Given the description of an element on the screen output the (x, y) to click on. 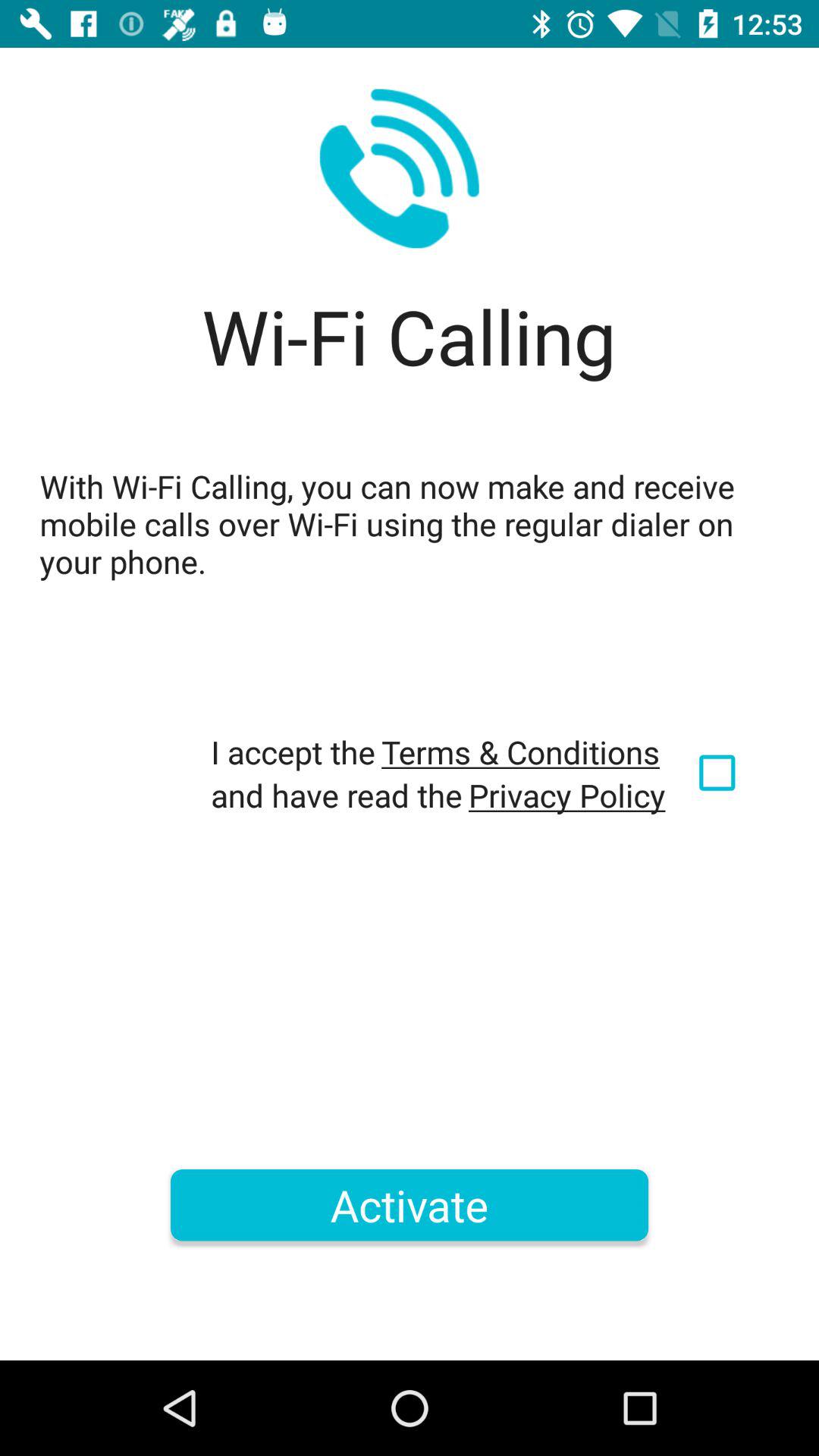
scroll to terms & conditions app (520, 751)
